Given the description of an element on the screen output the (x, y) to click on. 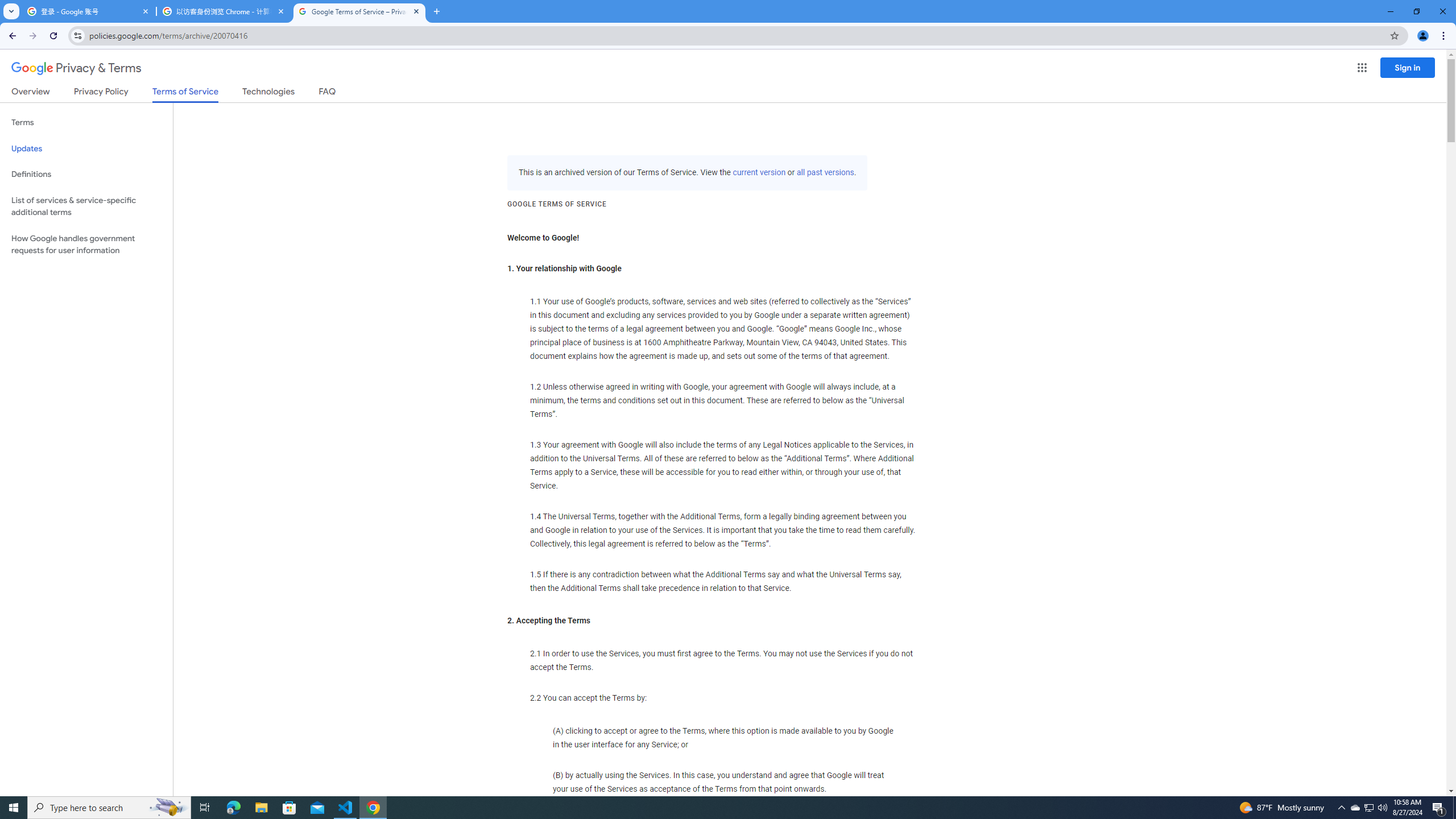
all past versions (825, 172)
